Given the description of an element on the screen output the (x, y) to click on. 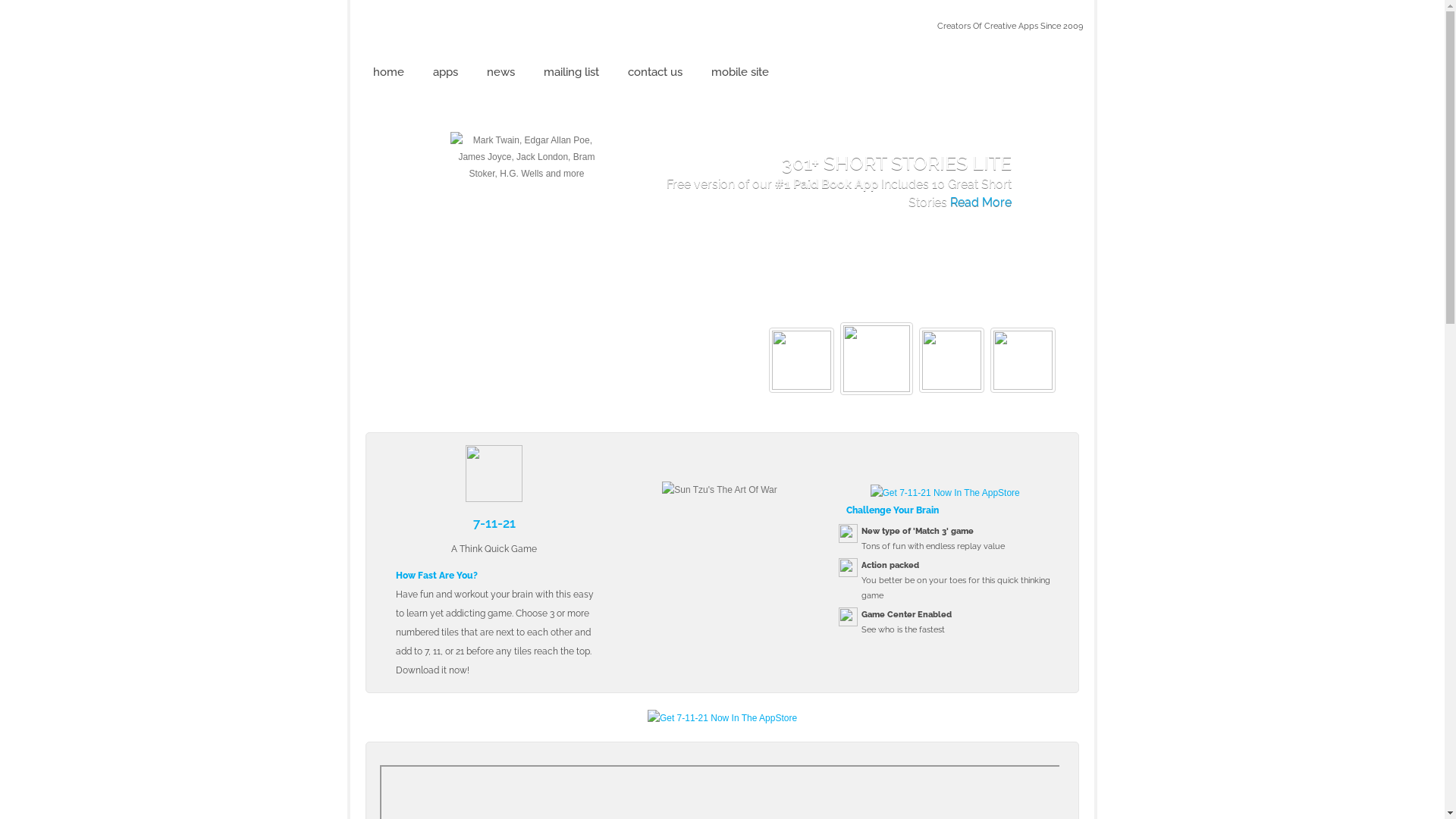
apps Element type: text (445, 71)
facebook-ico Element type: text (1065, 117)
mobile site Element type: text (739, 71)
Get 7-11-21 Now In The AppStore Element type: hover (722, 717)
mailing list Element type: text (570, 71)
home Element type: text (388, 71)
news Element type: text (500, 71)
Get 7-11-21 Now In The AppStore Element type: hover (944, 491)
Sun Tzu's The Art Of War  Element type: hover (719, 489)
contact us Element type: text (655, 71)
Read More Element type: text (833, 220)
288 Vroom Element type: text (415, 27)
twitter-ico Element type: text (1037, 117)
